Given the description of an element on the screen output the (x, y) to click on. 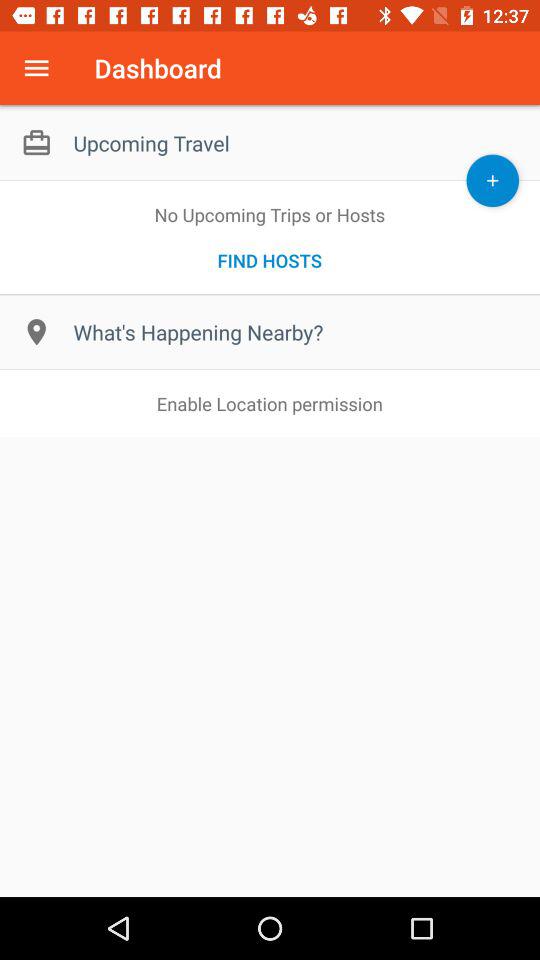
add trips (492, 180)
